Given the description of an element on the screen output the (x, y) to click on. 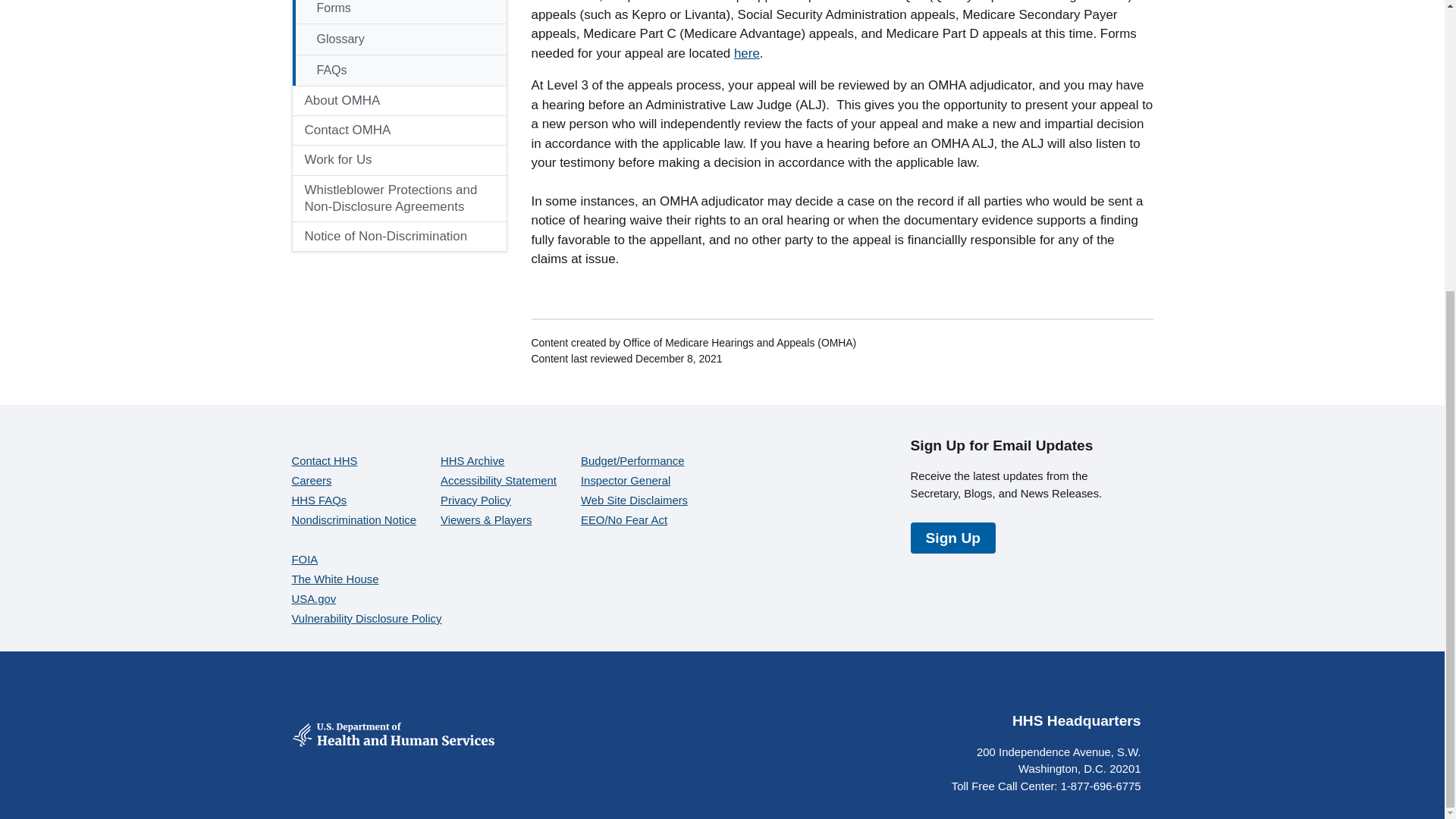
Visit the HHS Instagram account (1091, 687)
FAQs (399, 70)
Glossary (399, 39)
Visit the HHS Facebook account (982, 687)
Visit the HHS YouTube account (1055, 687)
Visit the HHS X account (1018, 687)
Forms (399, 11)
About OMHA (382, 100)
Visit the HHS LinkedIn account (1128, 687)
